Given the description of an element on the screen output the (x, y) to click on. 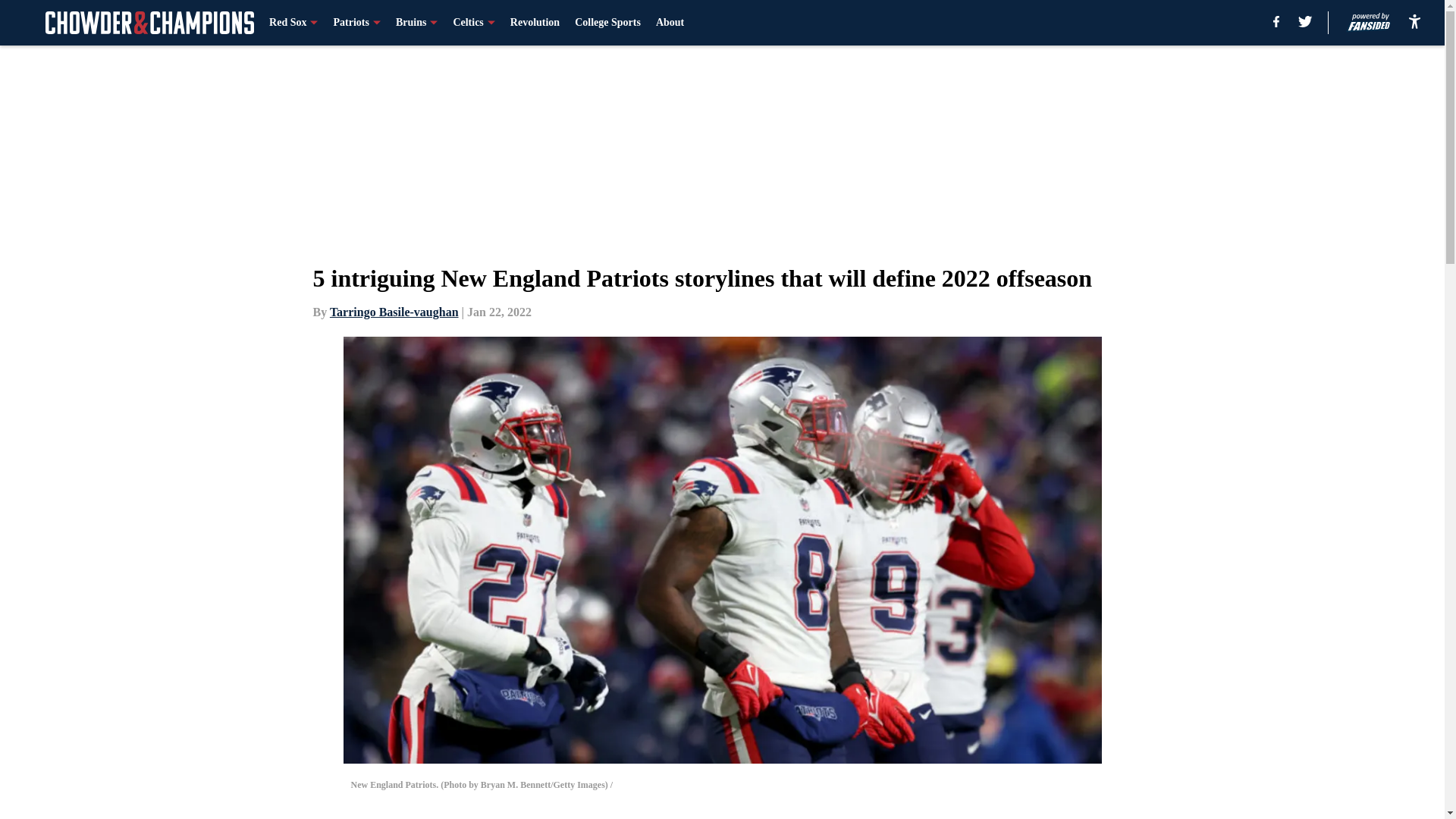
Revolution (535, 22)
Tarringo Basile-vaughan (394, 311)
College Sports (607, 22)
About (670, 22)
